Given the description of an element on the screen output the (x, y) to click on. 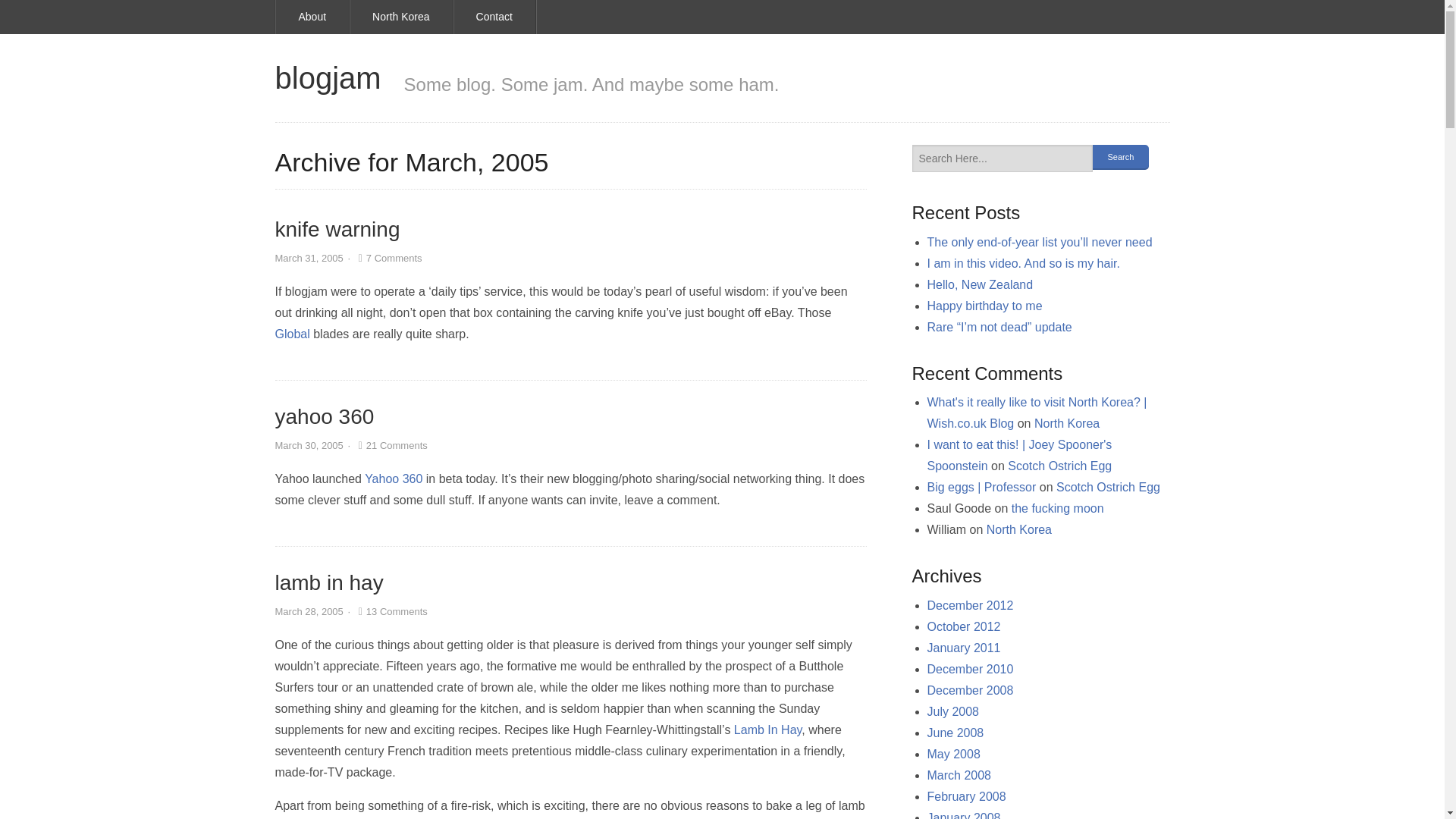
7 Comments (388, 257)
Lamb In Hay (767, 729)
Search (1120, 156)
Search (1120, 156)
21 Comments (391, 445)
Global (291, 333)
yahoo 360 (324, 416)
13 Comments (391, 611)
Permanent Link to yahoo 360 (324, 416)
North Korea (400, 17)
Permanent Link to knife warning (336, 228)
Yahoo 360 (393, 478)
About (313, 17)
knife warning (336, 228)
Contact (493, 17)
